Given the description of an element on the screen output the (x, y) to click on. 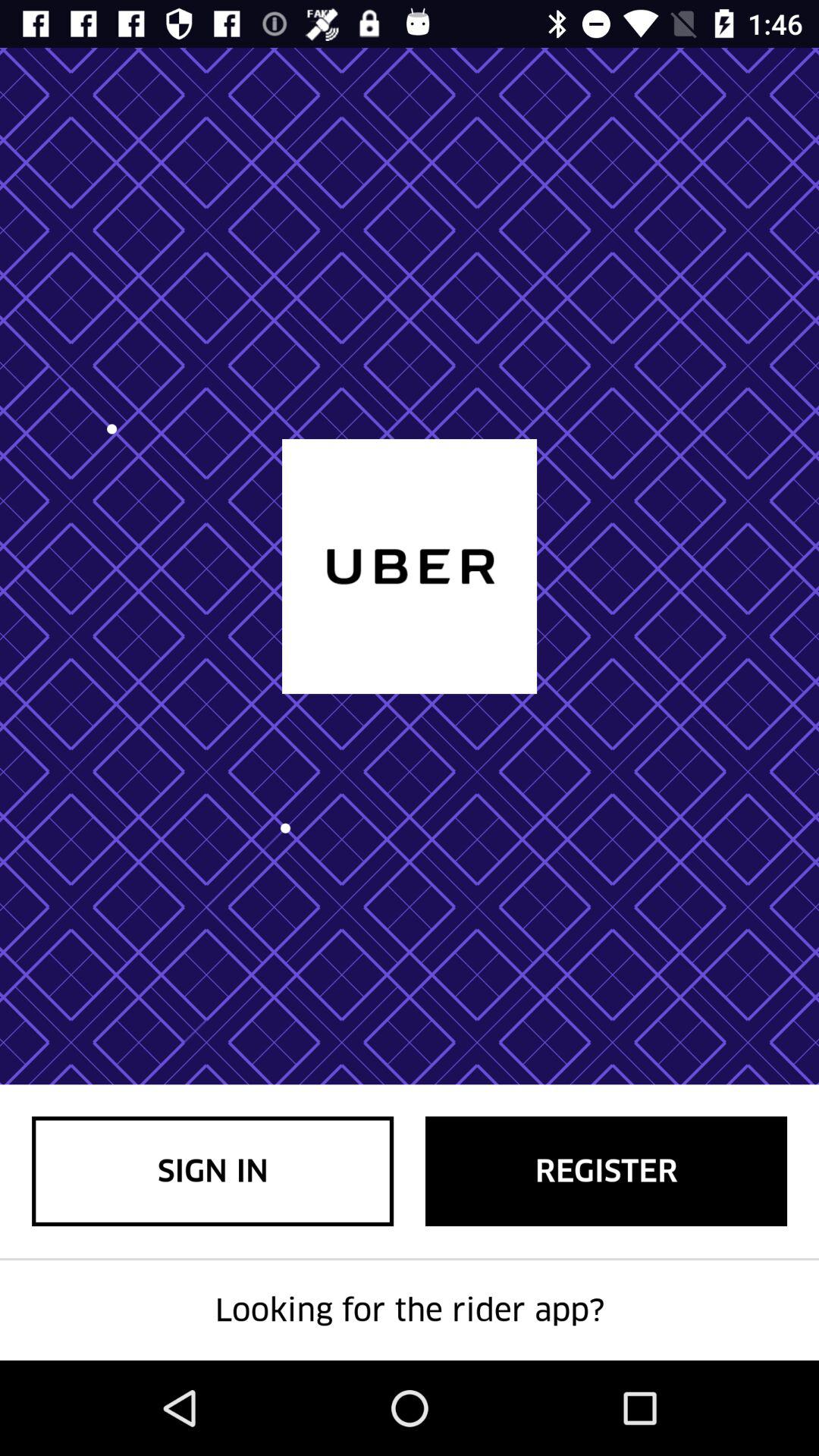
turn on item next to sign in item (606, 1171)
